Given the description of an element on the screen output the (x, y) to click on. 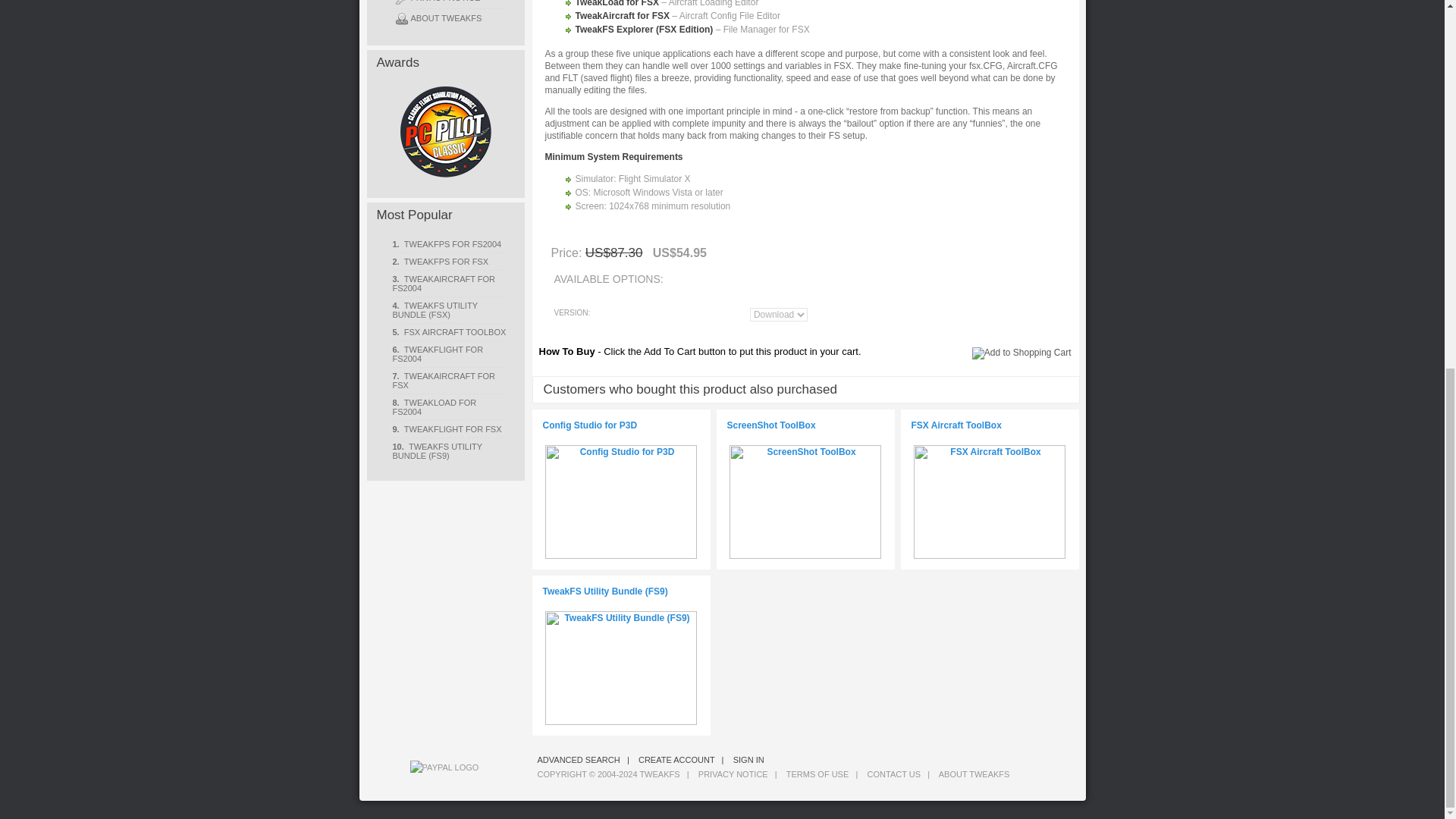
 FSX Aircraft ToolBox  (989, 501)
9.  TWEAKFLIGHT FOR FSX (449, 428)
1.  TWEAKFPS FOR FS2004 (449, 243)
8.  TWEAKLOAD FOR FS2004 (449, 406)
PRIVACY NOTICE (449, 4)
3.  TWEAKAIRCRAFT FOR FS2004 (449, 283)
5.  FSX AIRCRAFT TOOLBOX (449, 331)
ABOUT TWEAKFS (449, 18)
TweakLoad for FSX (616, 3)
 Config Studio for P3D  (620, 501)
